Given the description of an element on the screen output the (x, y) to click on. 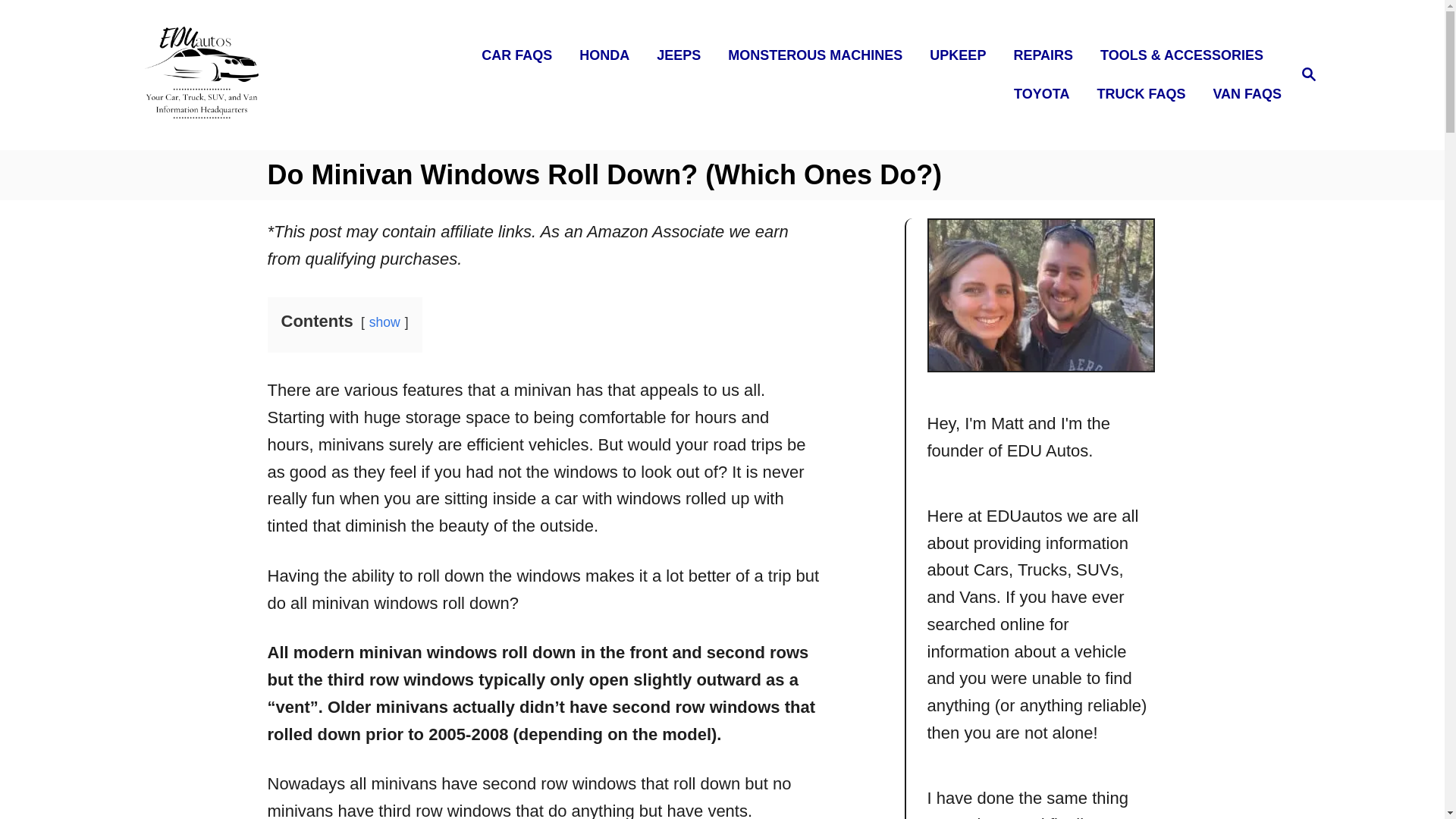
JEEPS (683, 55)
Magnifying Glass (1308, 74)
EduAutos (285, 74)
MONSTEROUS MACHINES (819, 55)
TRUCK FAQS (1145, 94)
REPAIRS (1047, 55)
HONDA (608, 55)
CAR FAQS (1308, 75)
TOYOTA (520, 55)
